Given the description of an element on the screen output the (x, y) to click on. 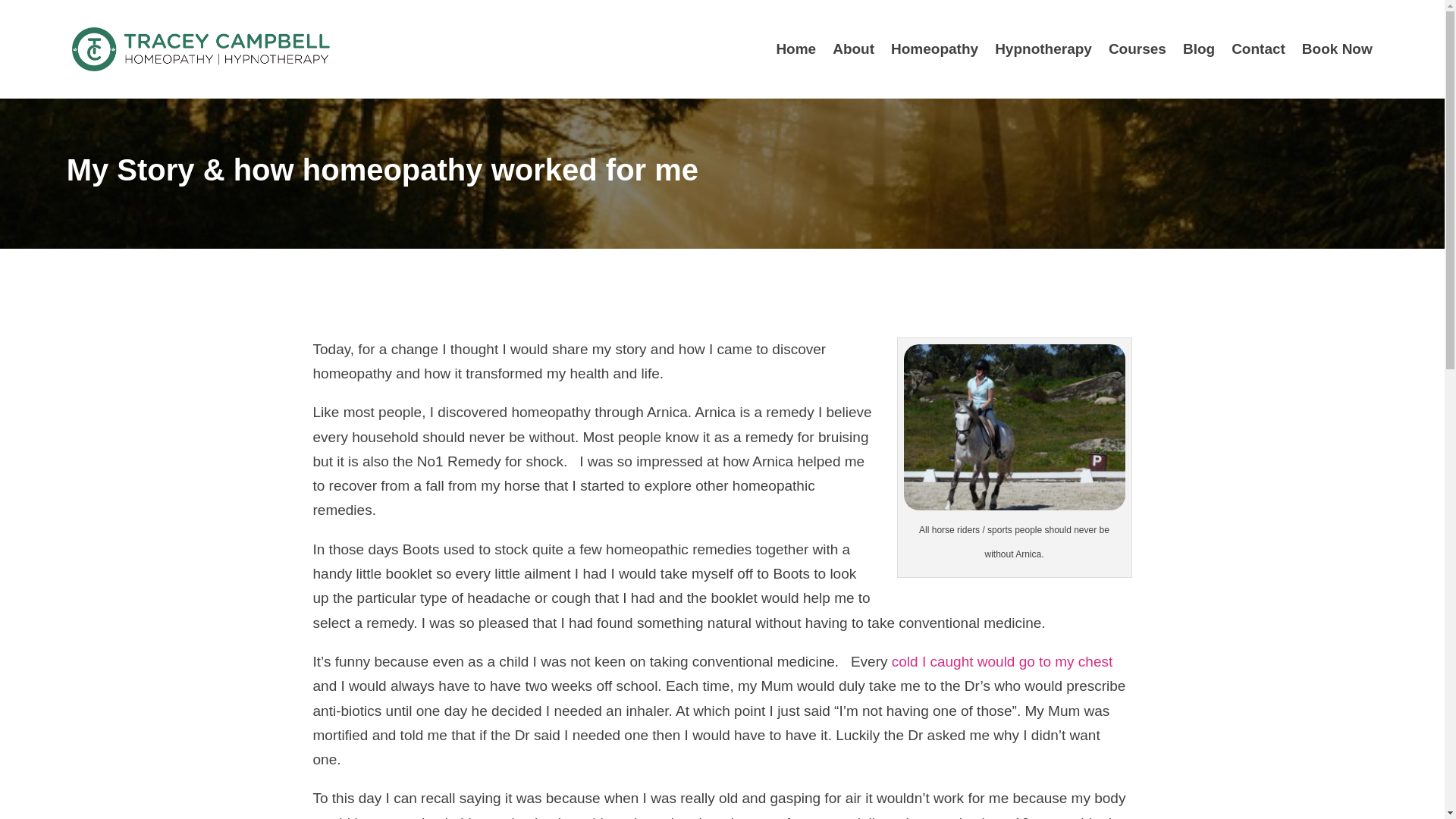
Contact (1258, 48)
Book Now (1337, 48)
cold I caught would go to my chest (1002, 661)
Homeopathy (934, 48)
Hypnotherapy (1043, 48)
Courses (1137, 48)
